Given the description of an element on the screen output the (x, y) to click on. 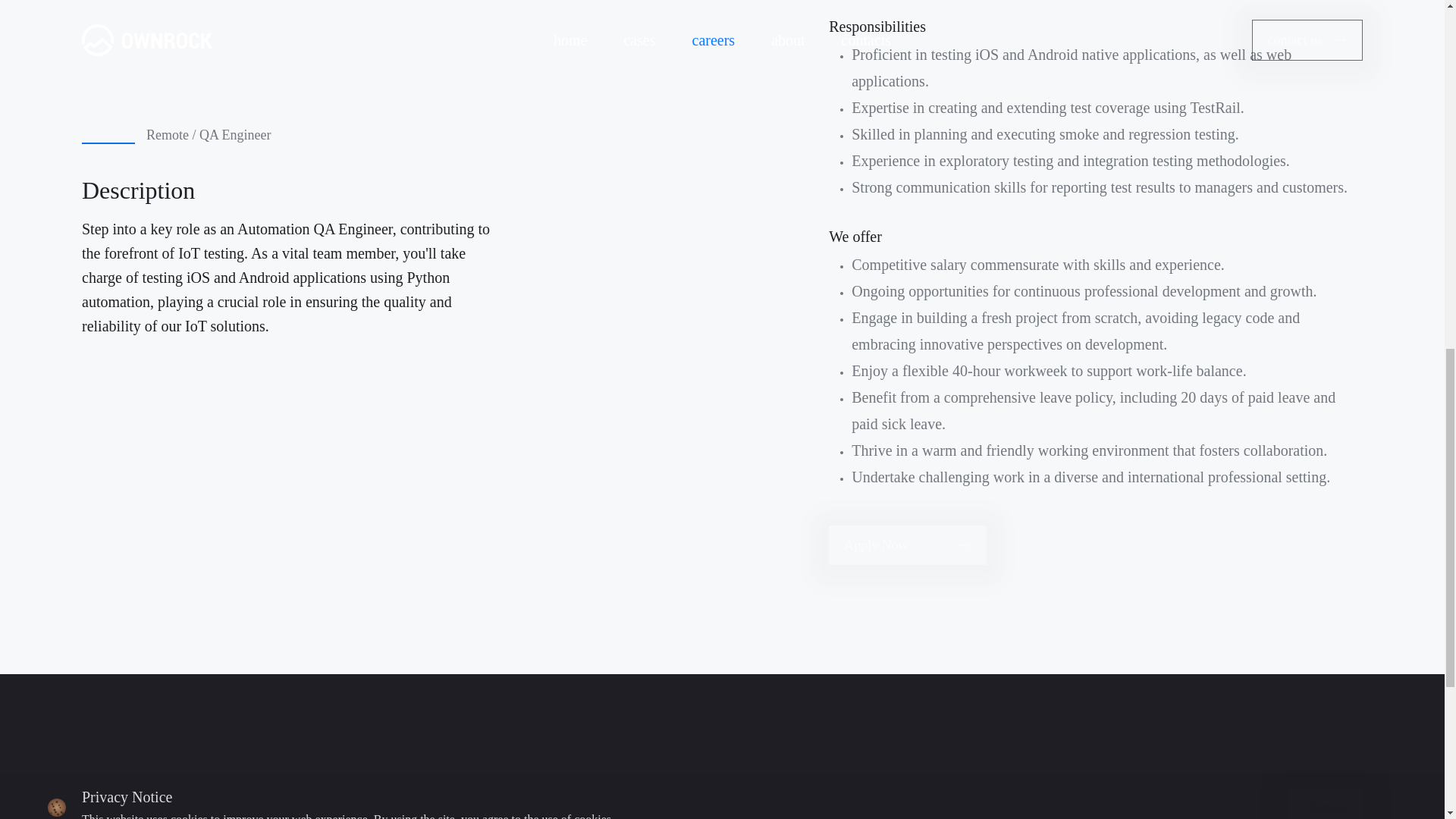
Dismiss (1325, 4)
Apply Now (907, 545)
